Given the description of an element on the screen output the (x, y) to click on. 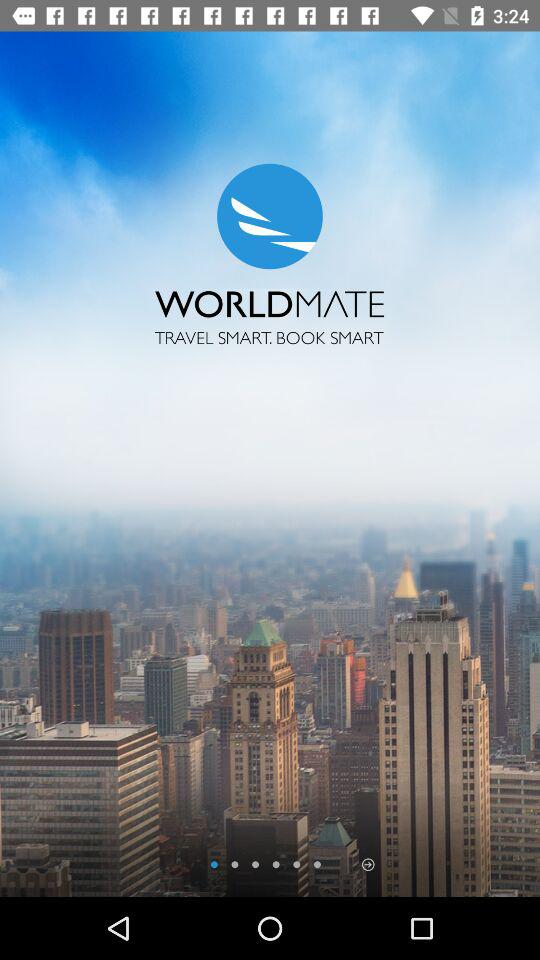
go forward (367, 864)
